Given the description of an element on the screen output the (x, y) to click on. 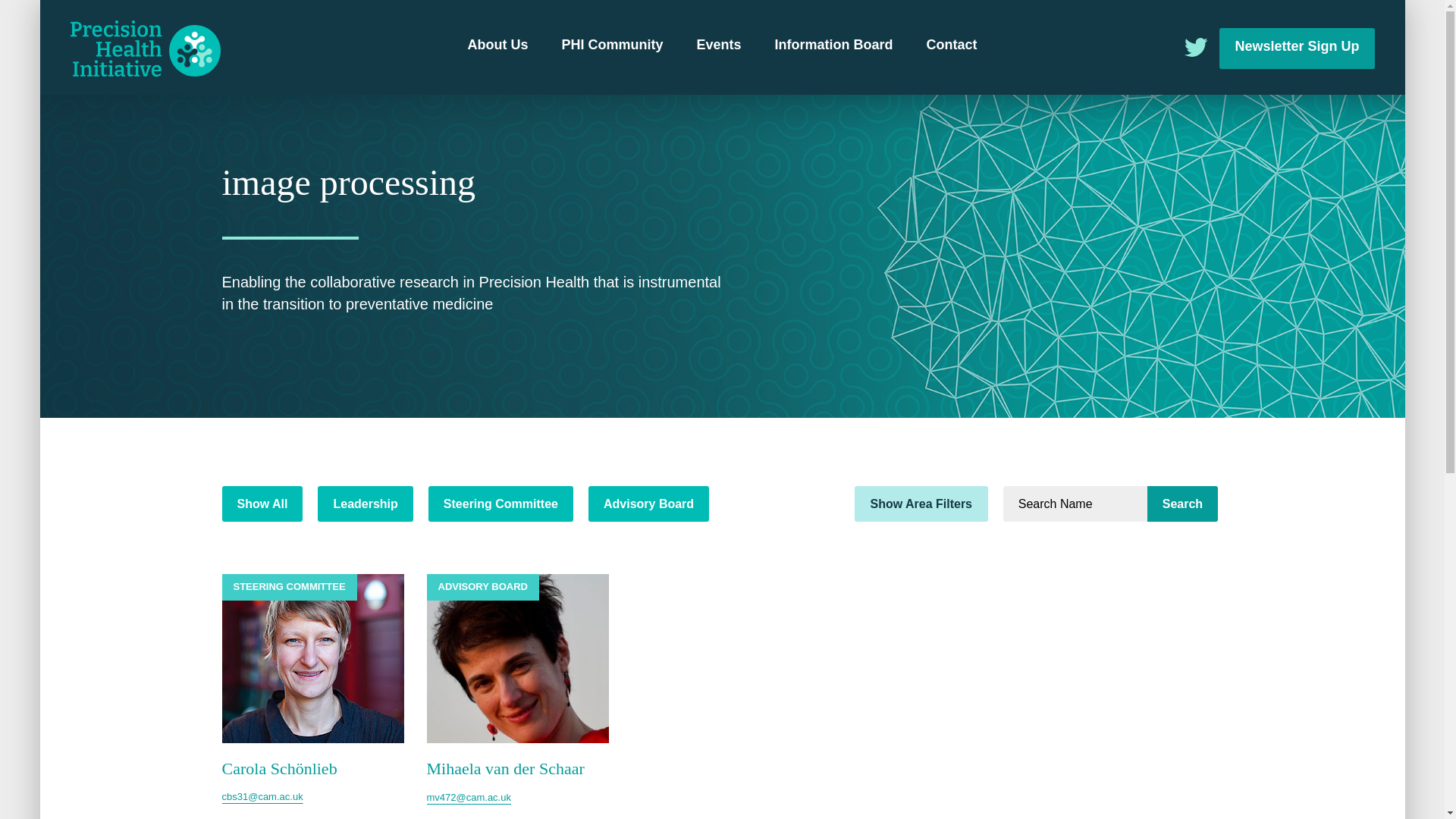
Events (718, 46)
Show Area Filters (921, 503)
Contact (951, 46)
Precision Health Initiative (144, 48)
Information Board (833, 46)
PHI Community (611, 46)
Leadership (364, 503)
About Us (497, 46)
Advisory Board (648, 503)
Steering Committee (500, 503)
